Given the description of an element on the screen output the (x, y) to click on. 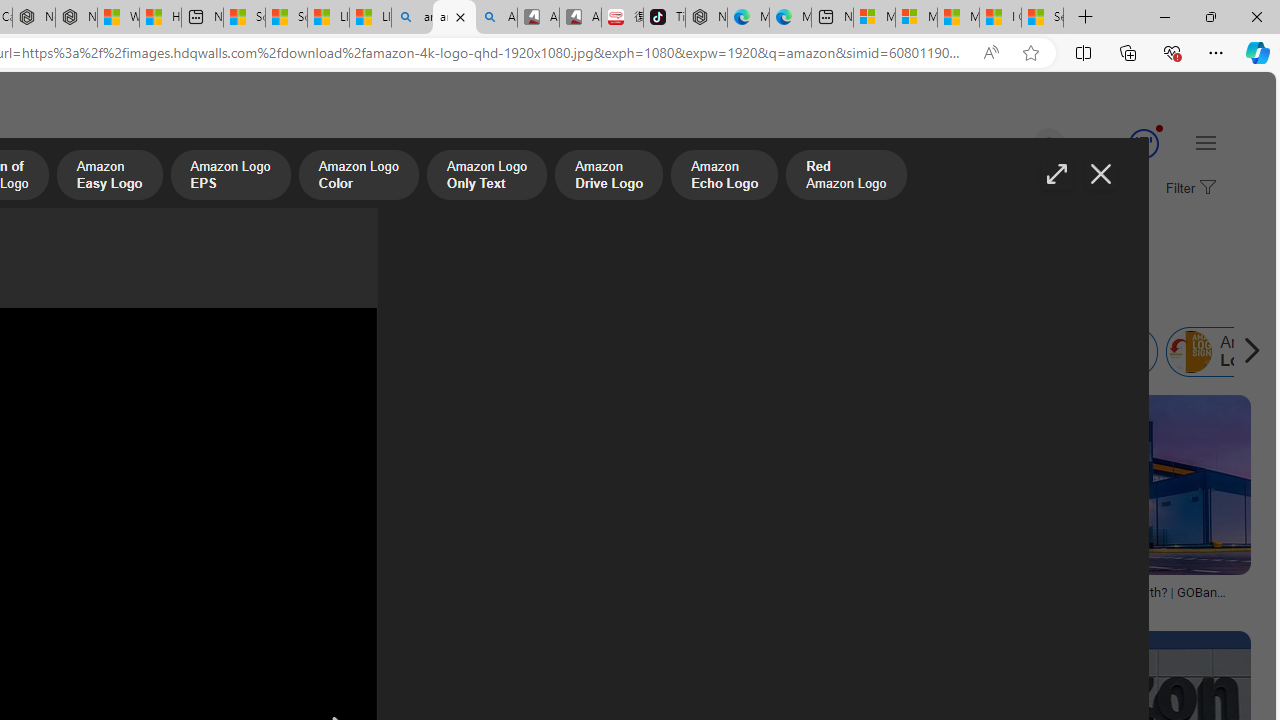
Filter (1188, 189)
Class: medal-circled (1143, 143)
Settings and quick links (1205, 142)
Scroll right (1246, 351)
Close image (1100, 173)
Amazon Drive Logo (608, 177)
Amazon Easy Logo (109, 177)
downdetector.ae (233, 606)
Amazon down? Current status and problems | Downdetector (233, 598)
Image result for amazon (1103, 485)
